Given the description of an element on the screen output the (x, y) to click on. 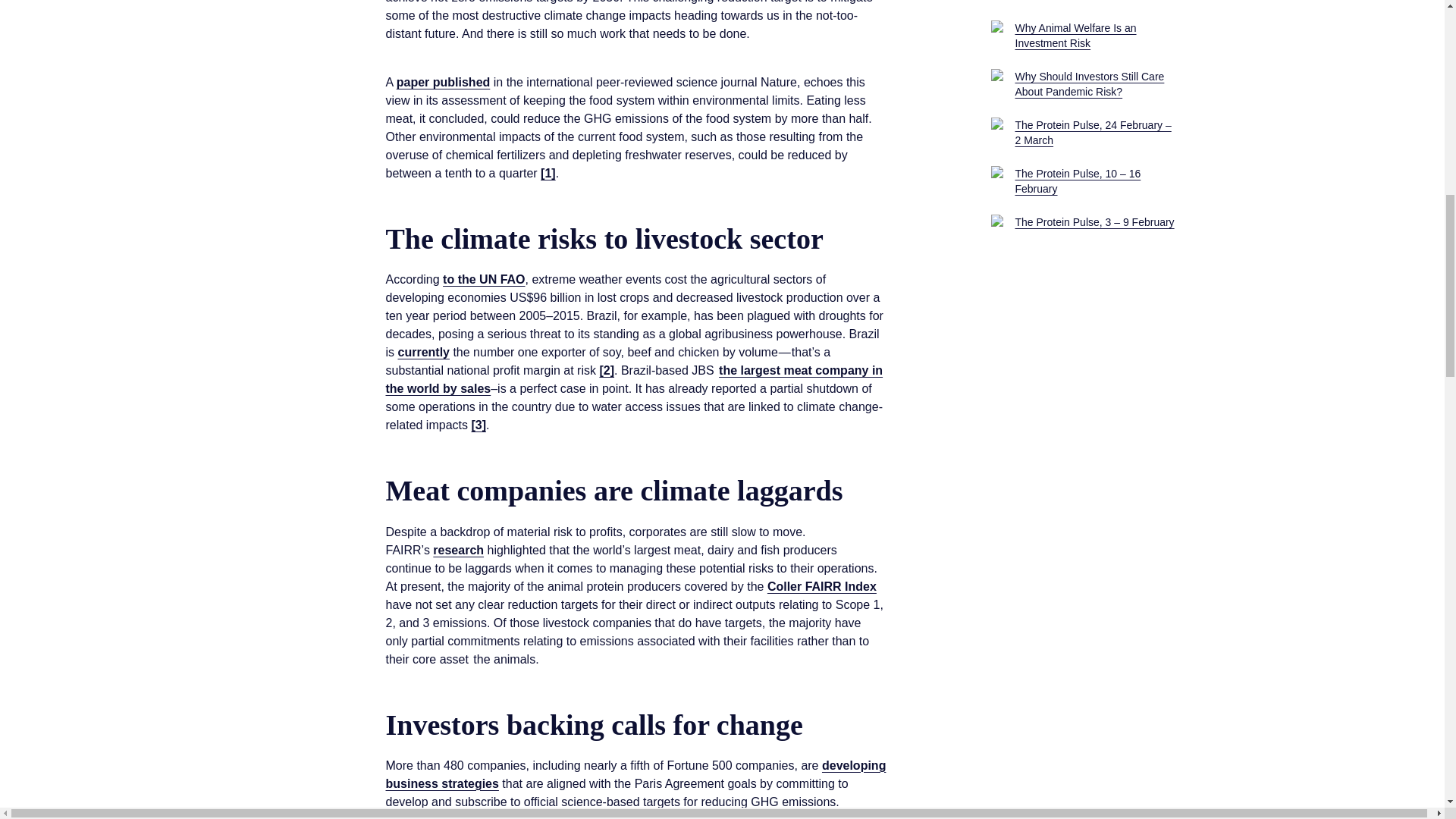
research (457, 549)
the largest meat company in the world by sales (633, 378)
currently (422, 351)
paper published (443, 82)
Coller FAIRR Index (821, 585)
developing business strategies (635, 774)
to the UN FAO (483, 278)
